Given the description of an element on the screen output the (x, y) to click on. 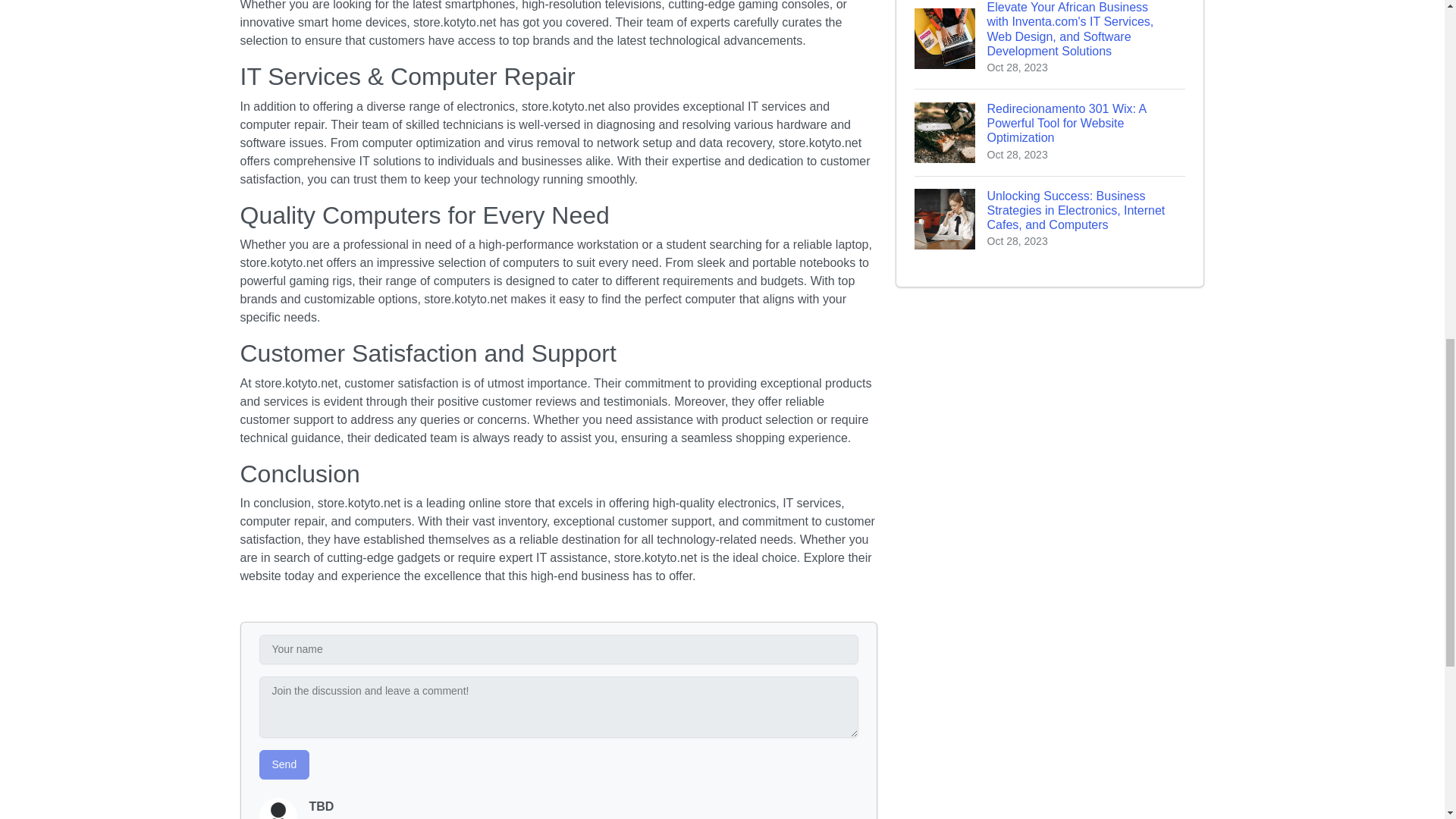
Send (284, 764)
Send (284, 764)
